Given the description of an element on the screen output the (x, y) to click on. 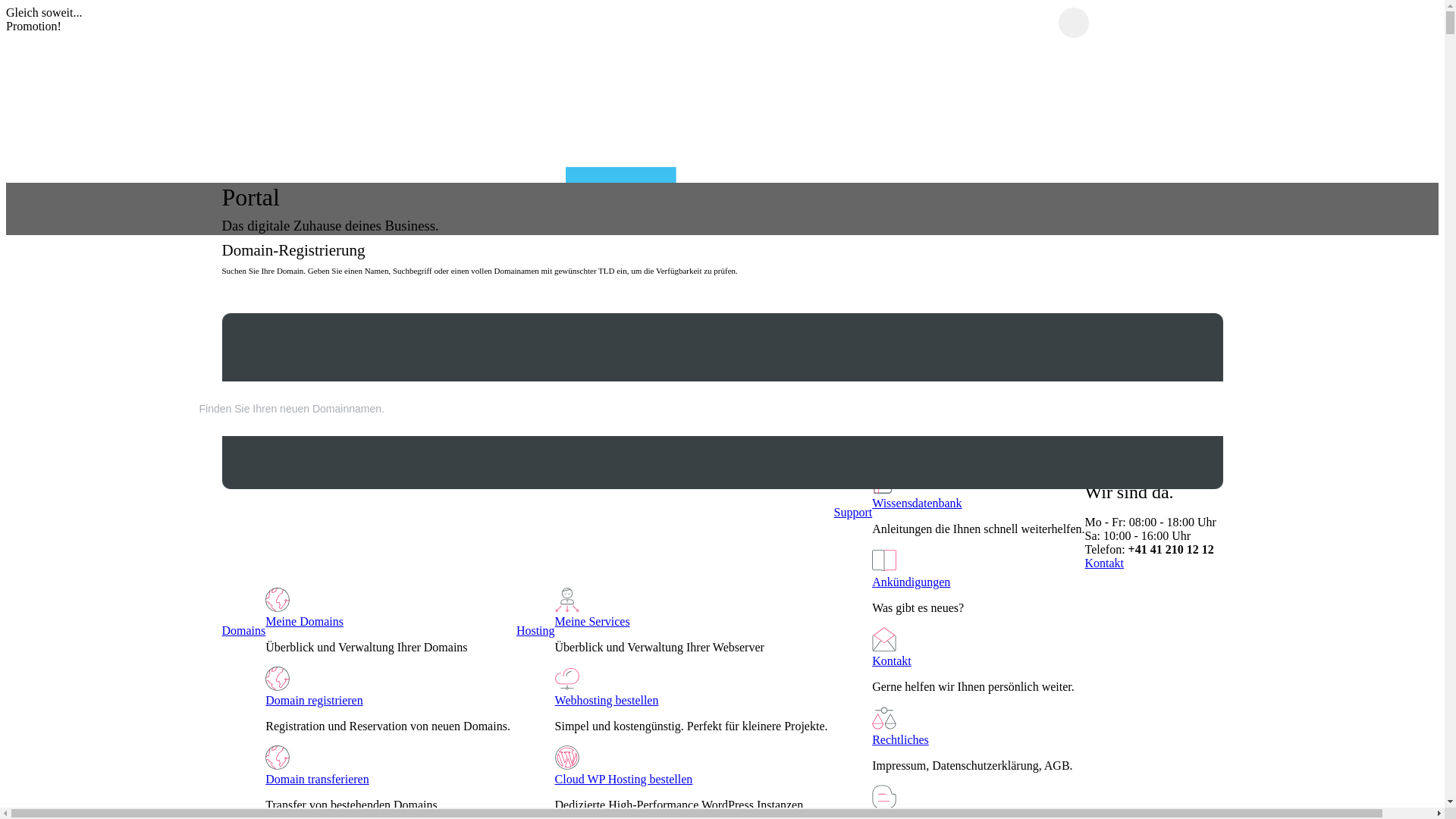
Rechtliches Element type: text (900, 739)
Wissensdatenbank Element type: text (916, 502)
Jetzt Transferieren Element type: text (302, 25)
Kontakt Element type: text (1104, 562)
Domain transferieren Element type: text (316, 778)
Cloud WP Hosting bestellen Element type: text (624, 778)
Domain registrieren Element type: text (313, 699)
Webhosting bestellen Element type: text (606, 699)
Suchen Element type: text (259, 400)
Login Element type: text (1405, 421)
Meine Domains Element type: text (304, 621)
Kontakt Element type: text (891, 660)
Meine Services Element type: text (592, 621)
Geben Sie einen Namen oder ein Wort ein Element type: hover (698, 408)
